Given the description of an element on the screen output the (x, y) to click on. 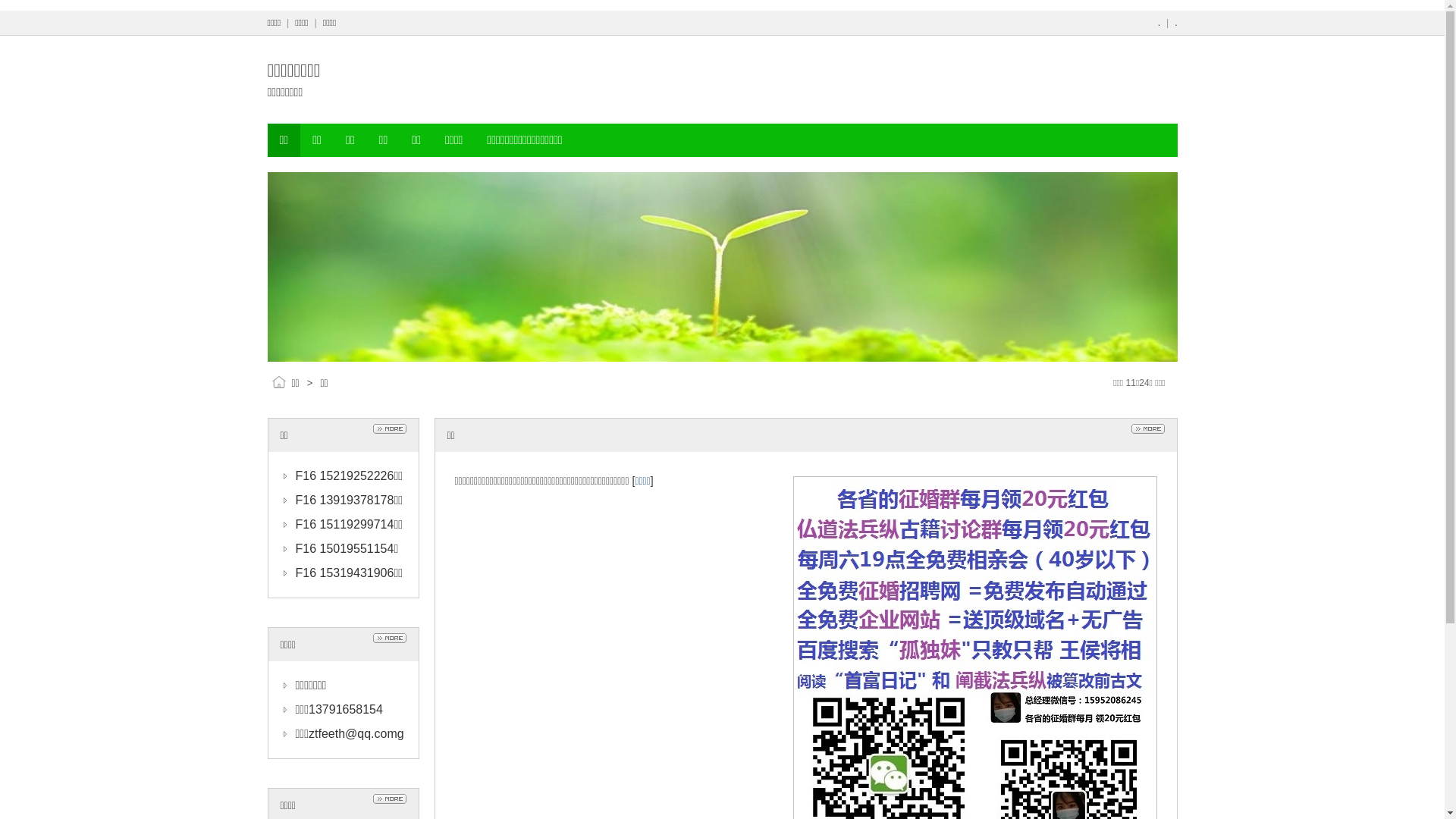
. Element type: text (1175, 22)
. Element type: text (1158, 22)
